Given the description of an element on the screen output the (x, y) to click on. 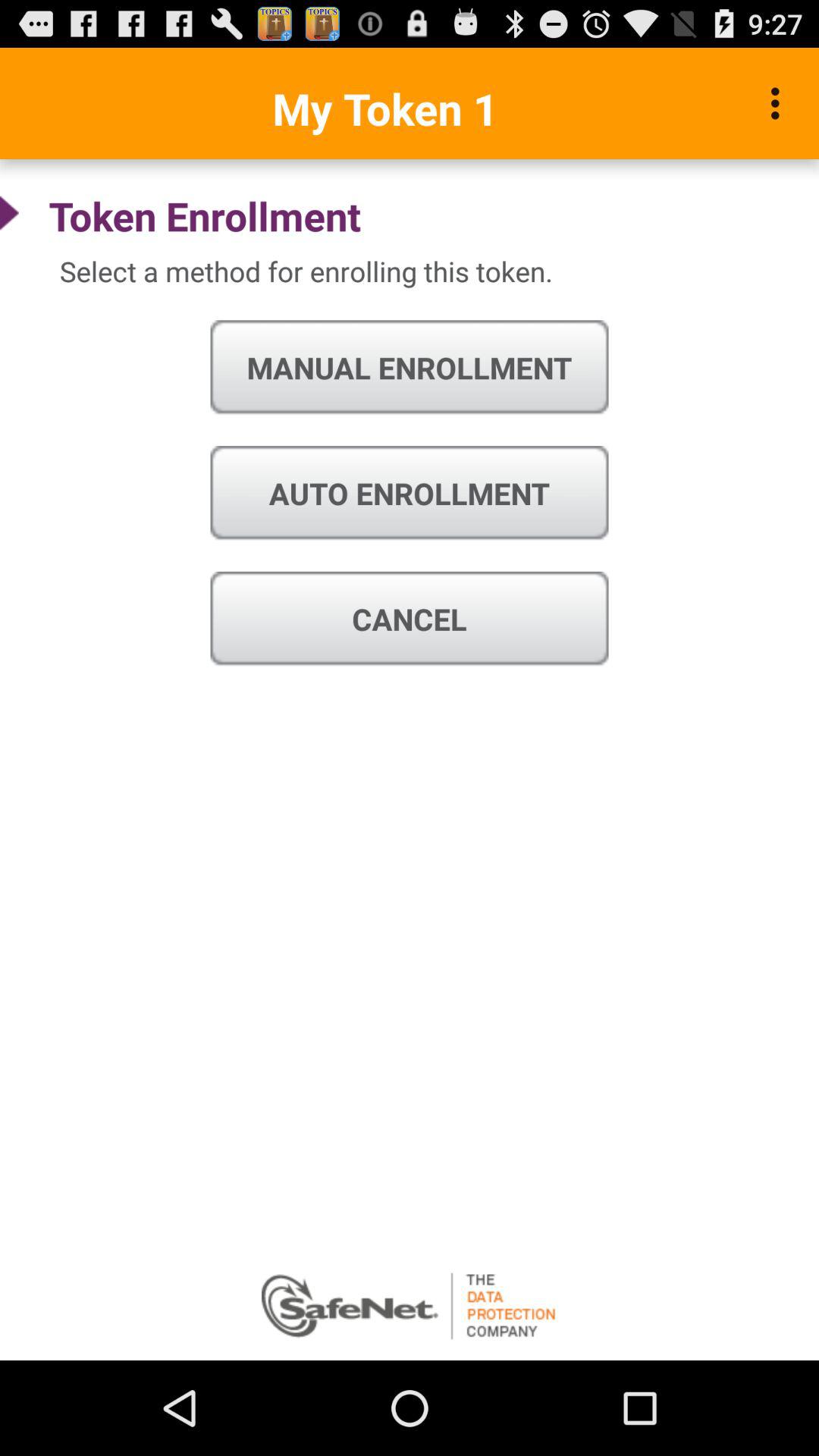
flip until the cancel item (409, 619)
